Given the description of an element on the screen output the (x, y) to click on. 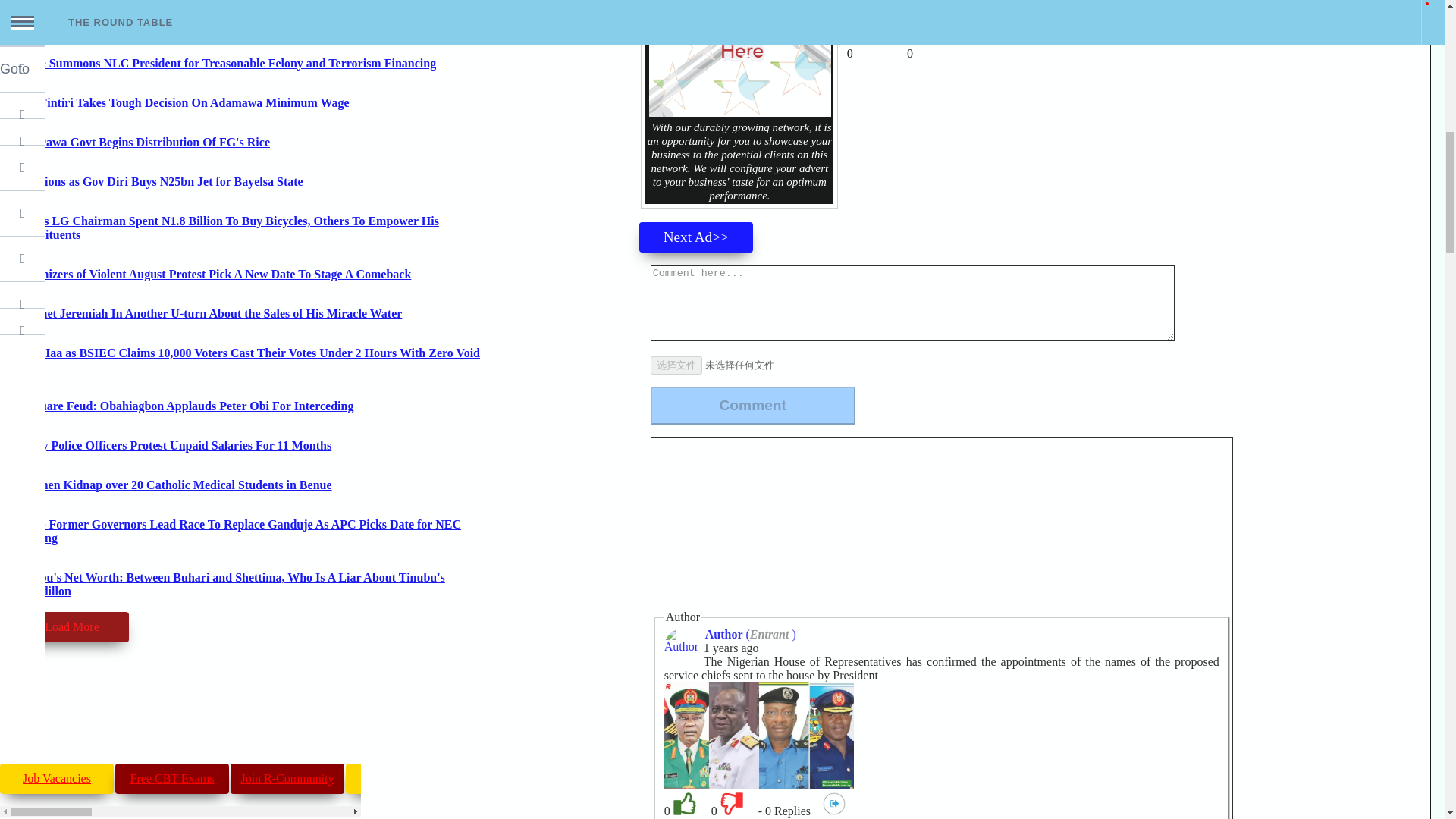
Angry Police Officers Protest Unpaid Salaries For 11 Months (172, 445)
Gunmen Kidnap over 20 Catholic Medical Students in Benue (172, 484)
P-Square Feud: Obahiagbon Applauds Peter Obi For Interceding (183, 405)
Reactions as Gov Diri Buys N25bn Jet for Bayelsa State (158, 181)
Gov Fintiri Takes Tough Decision On Adamawa Minimum Wage (181, 102)
